Given the description of an element on the screen output the (x, y) to click on. 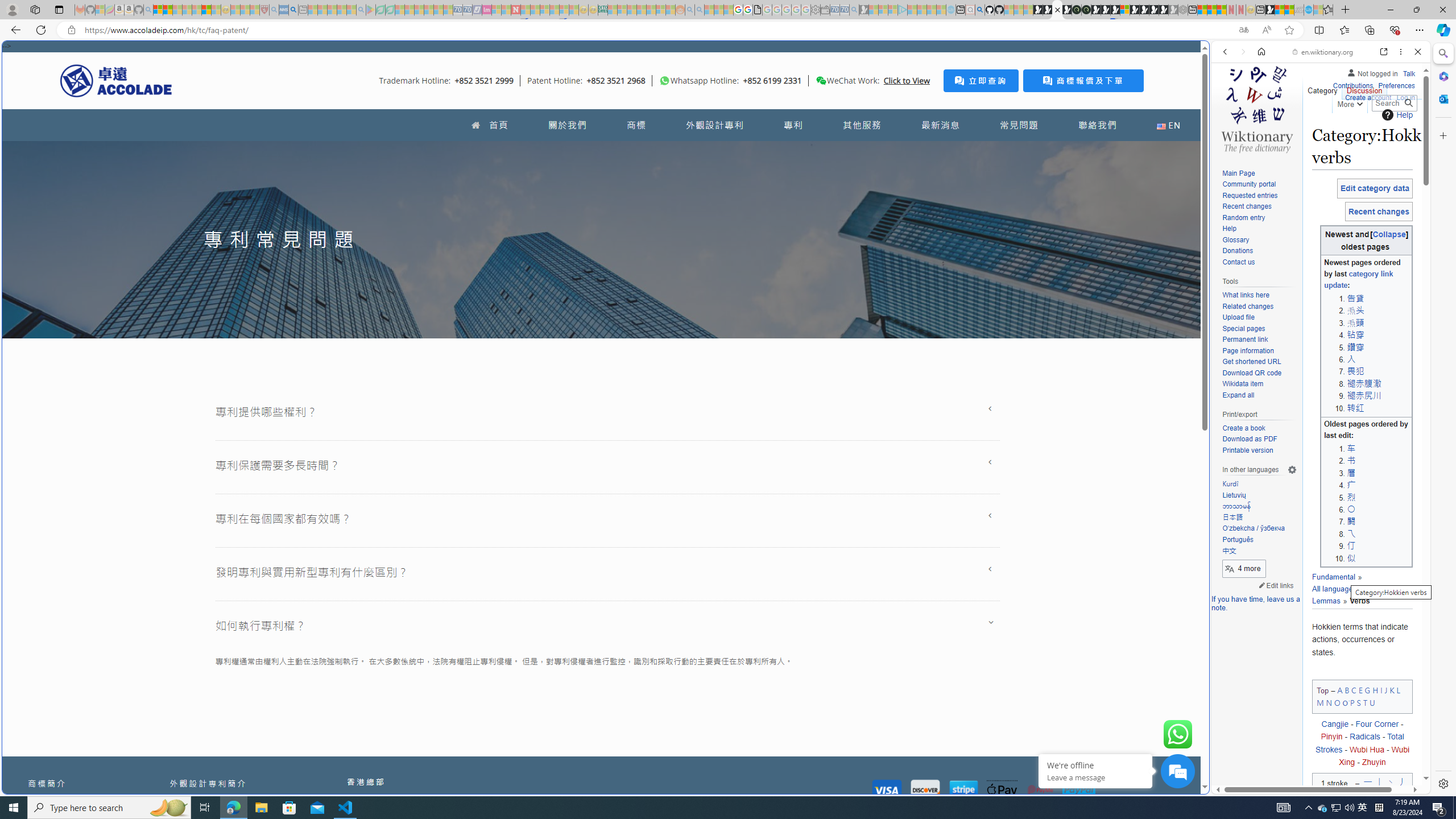
P (1351, 701)
Visit the main page (1257, 108)
Log in (1405, 98)
Permanent link (1259, 339)
Accolade IP HK Logo (116, 80)
Glossary (1259, 240)
